Given the description of an element on the screen output the (x, y) to click on. 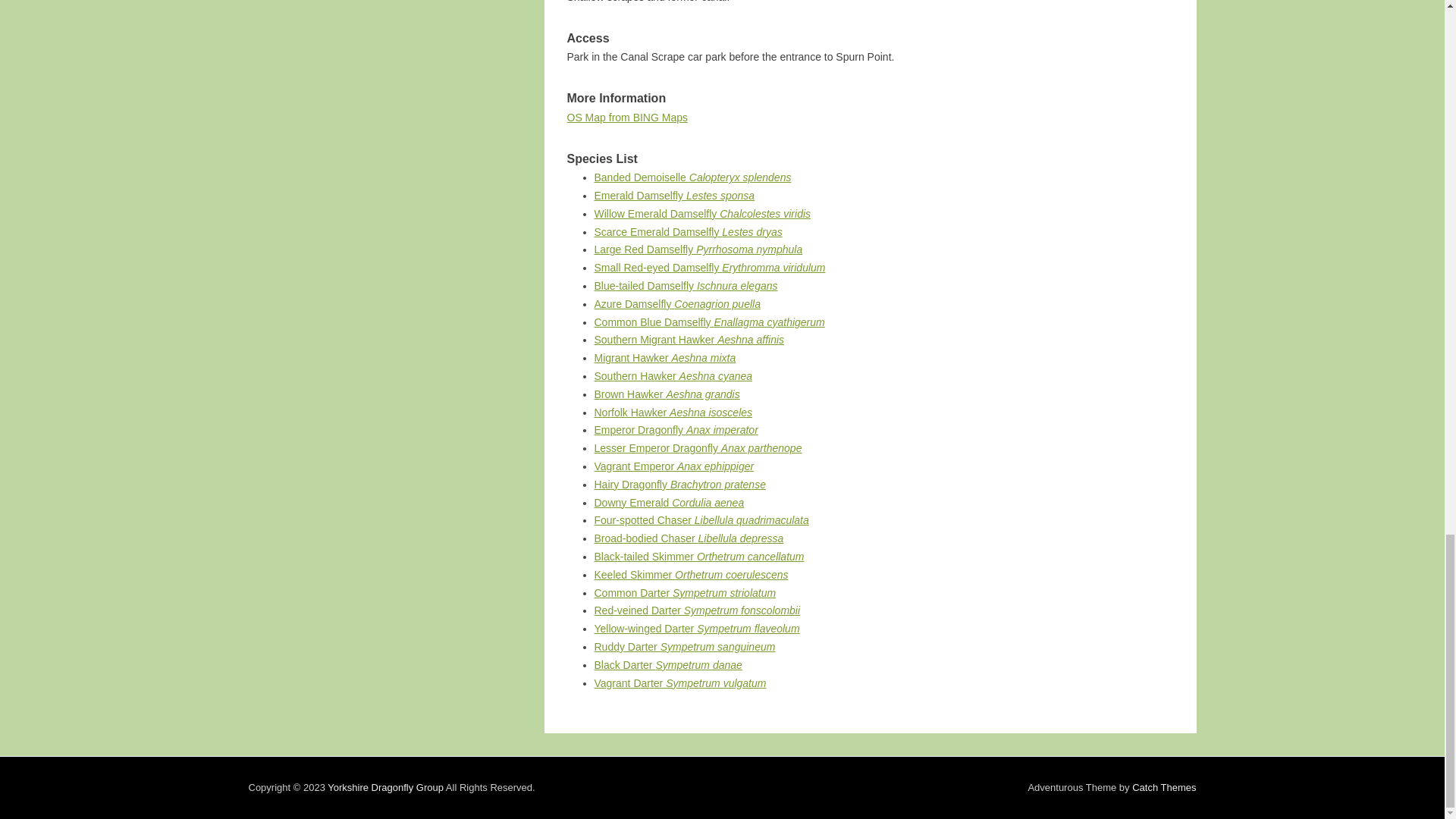
Yorkshire Dragonfly Group (385, 787)
Catch Themes (1163, 787)
